Given the description of an element on the screen output the (x, y) to click on. 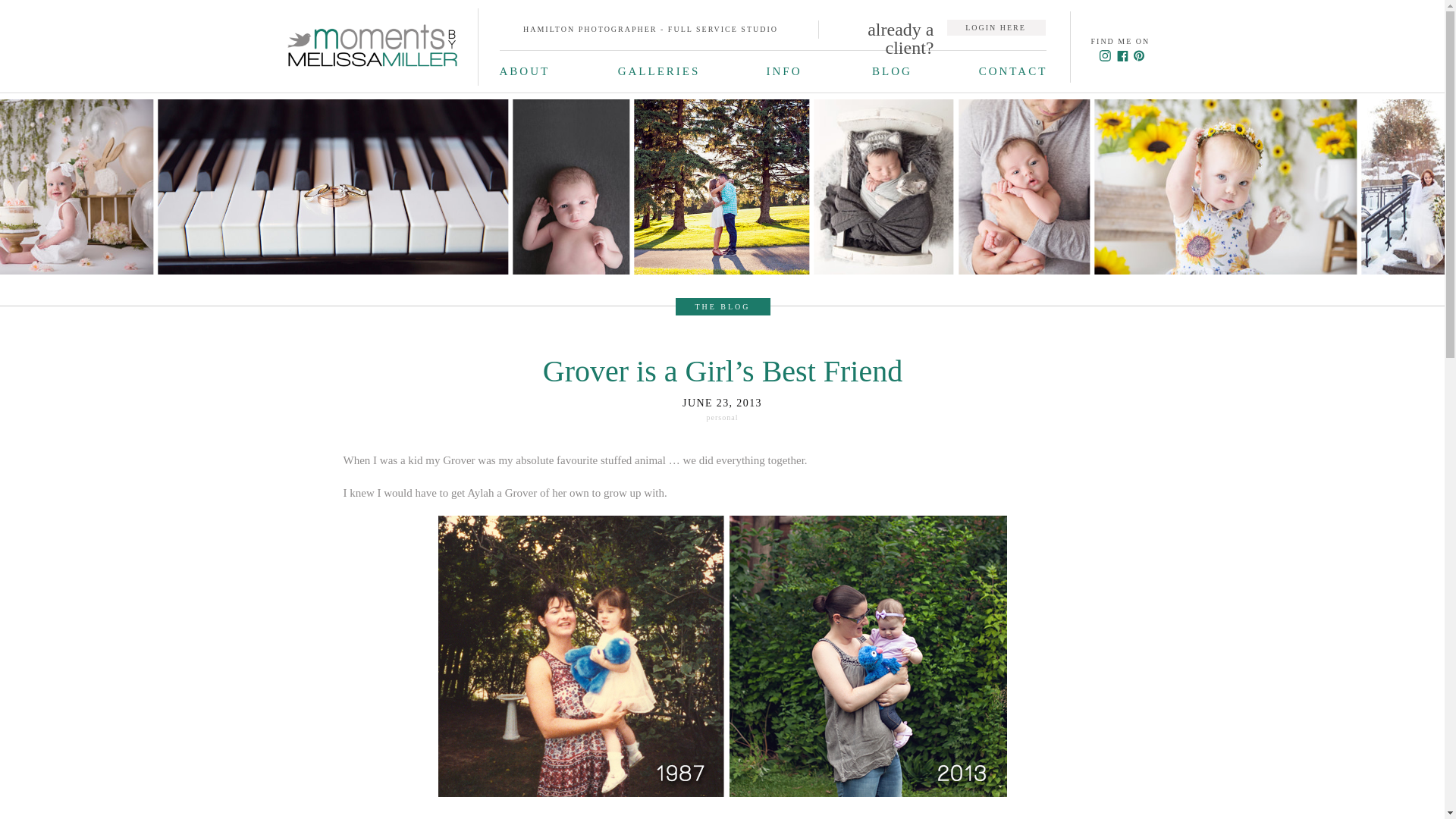
Instagram-color Created with Sketch. (1103, 55)
INFO (785, 69)
CONTACT (1013, 70)
BLOG (891, 71)
ABOUT (525, 70)
Facebook Copy-color Created with Sketch. (1121, 55)
LOGIN HERE (994, 26)
GALLERIES (658, 70)
Instagram-color Created with Sketch. (1103, 55)
already a client? (887, 26)
Facebook Copy-color Created with Sketch. (1121, 55)
